Given the description of an element on the screen output the (x, y) to click on. 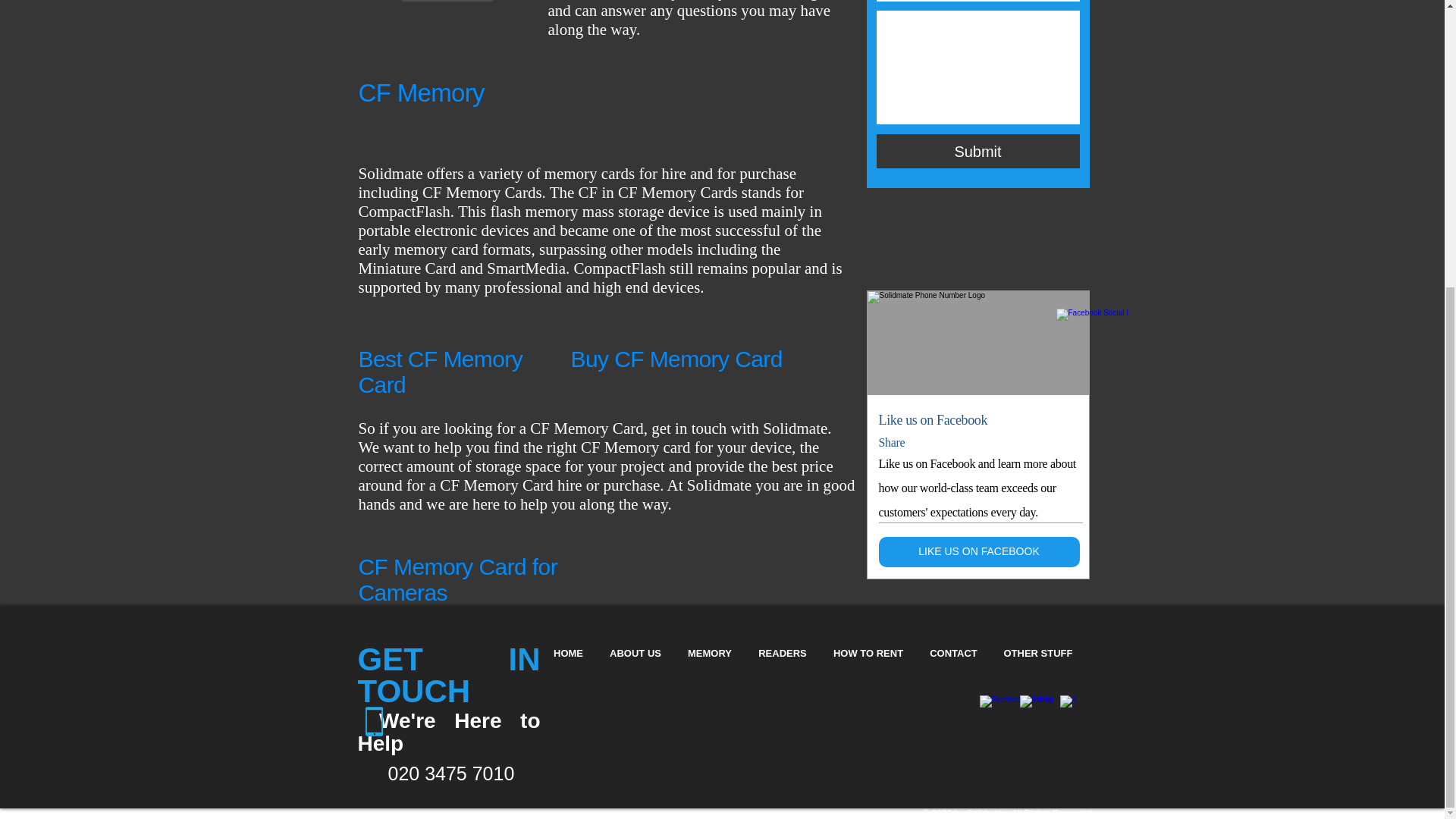
LIKE US ON FACEBOOK (977, 552)
MEMORY (710, 652)
HOME (567, 652)
Submit (978, 151)
ABOUT US (634, 652)
020 3475 7010 (451, 772)
